Given the description of an element on the screen output the (x, y) to click on. 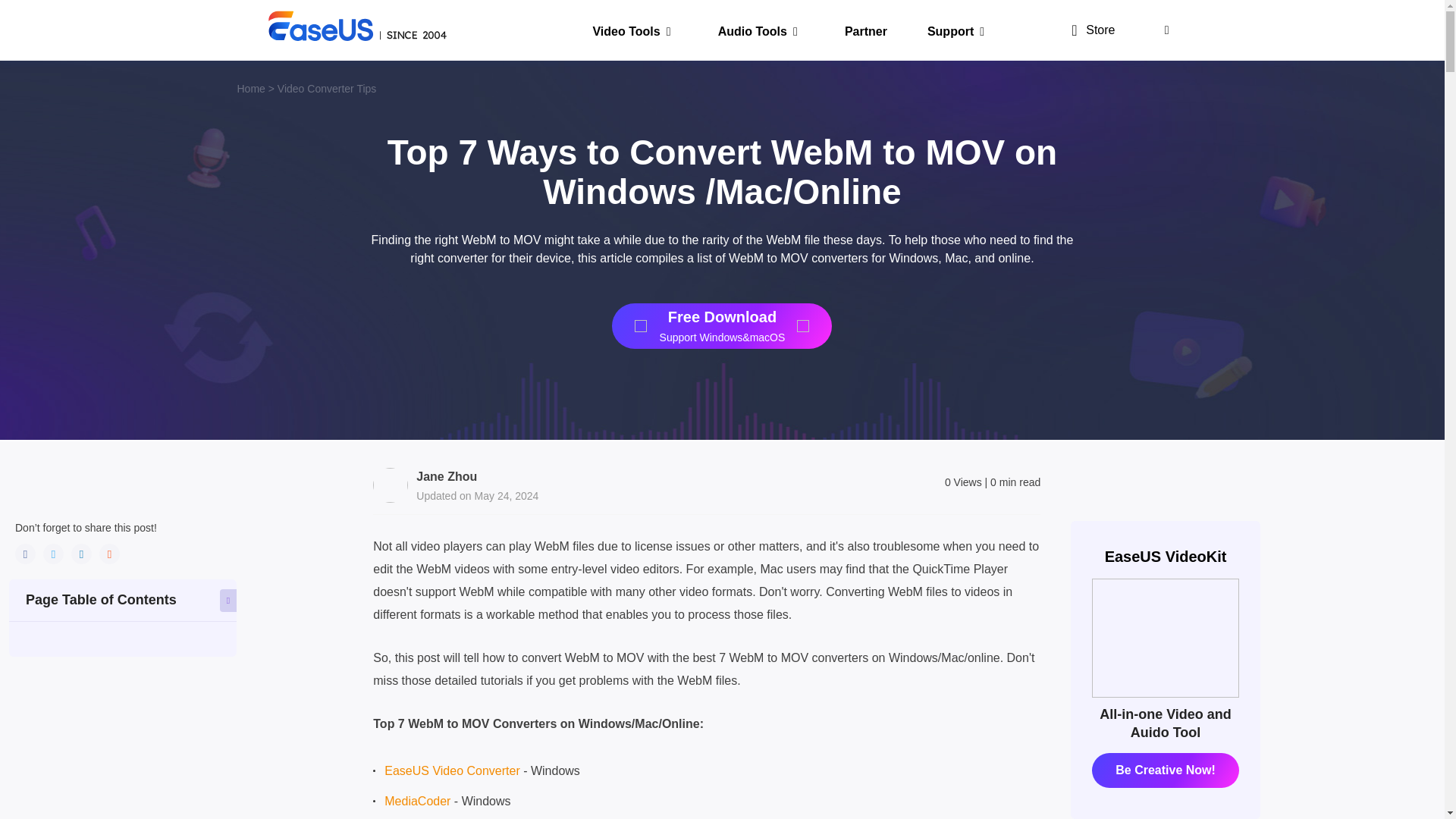
MediaCoder (416, 800)
Jane Zhou (446, 476)
  Store (1087, 29)
Home (249, 88)
EaseUS Video Converter (451, 770)
Partner (856, 30)
Video Converter Tips (326, 88)
